Given the description of an element on the screen output the (x, y) to click on. 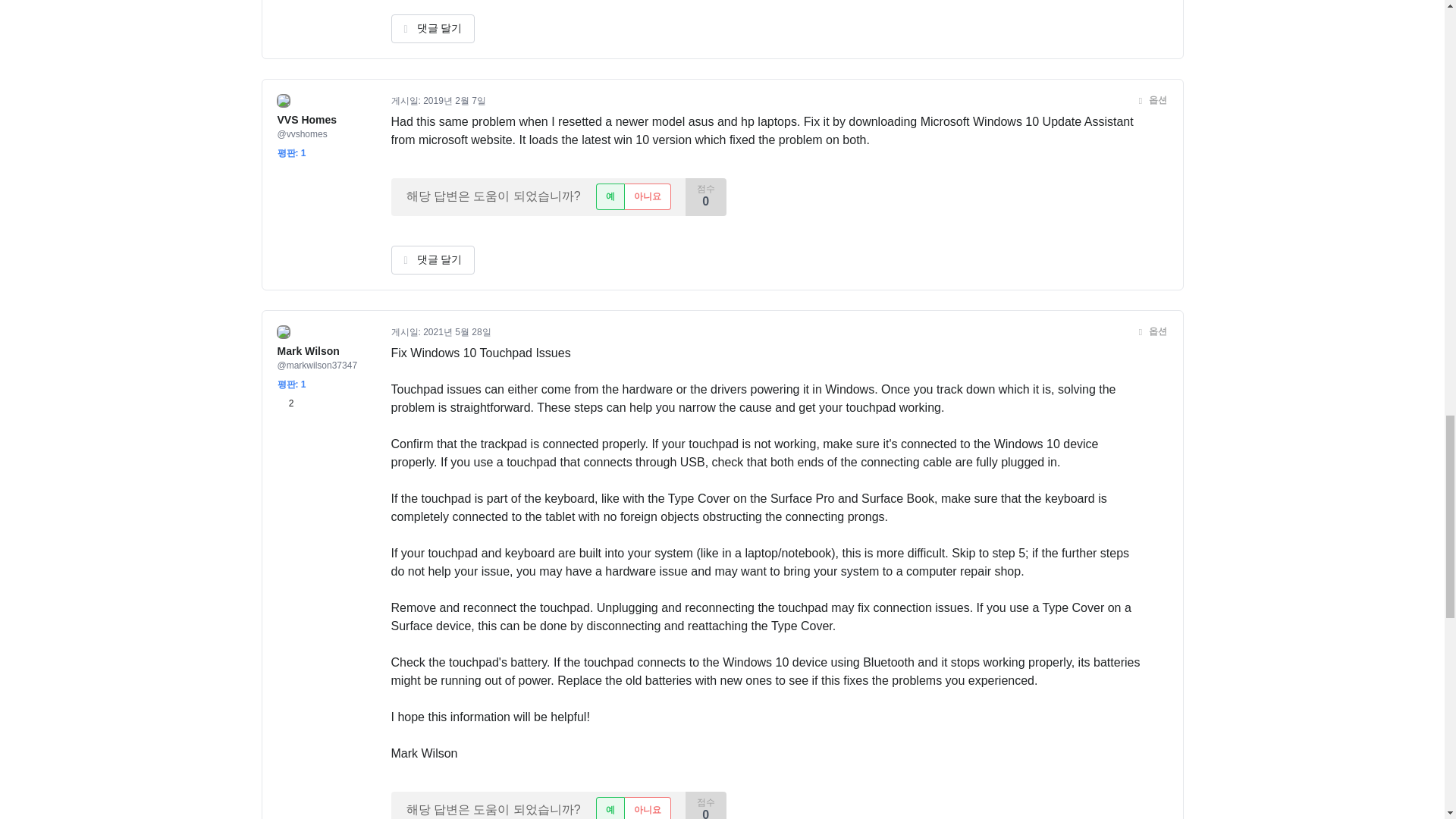
Thu, 07 Feb 2019 12:24:44 -0700 (454, 100)
